Given the description of an element on the screen output the (x, y) to click on. 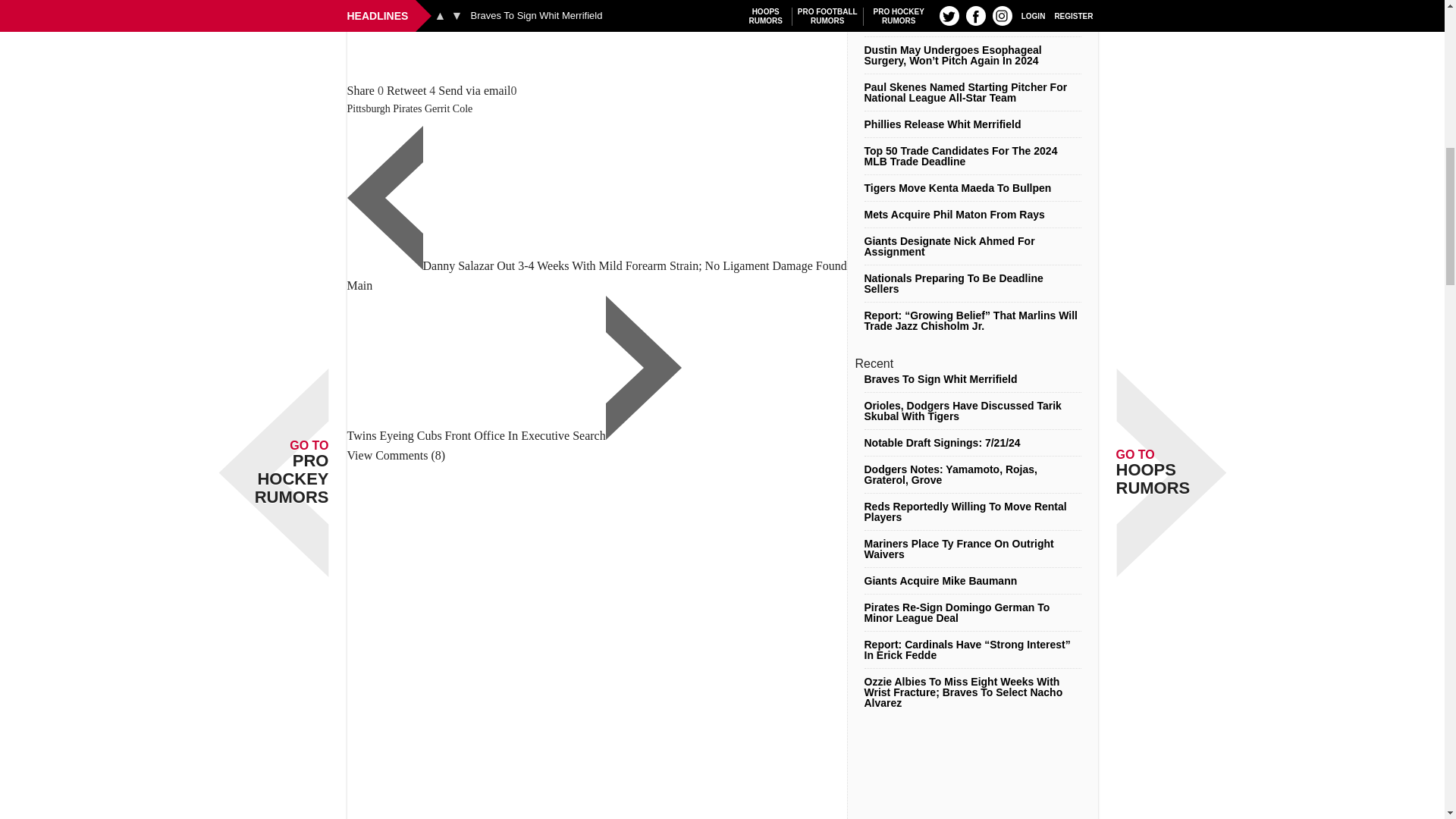
Send Pirates Activate Gerrit Cole with an email (474, 90)
Retweet 'Pirates Activate Gerrit Cole' on Twitter (406, 90)
Share 'Pirates Activate Gerrit Cole' on Facebook (360, 90)
